Given the description of an element on the screen output the (x, y) to click on. 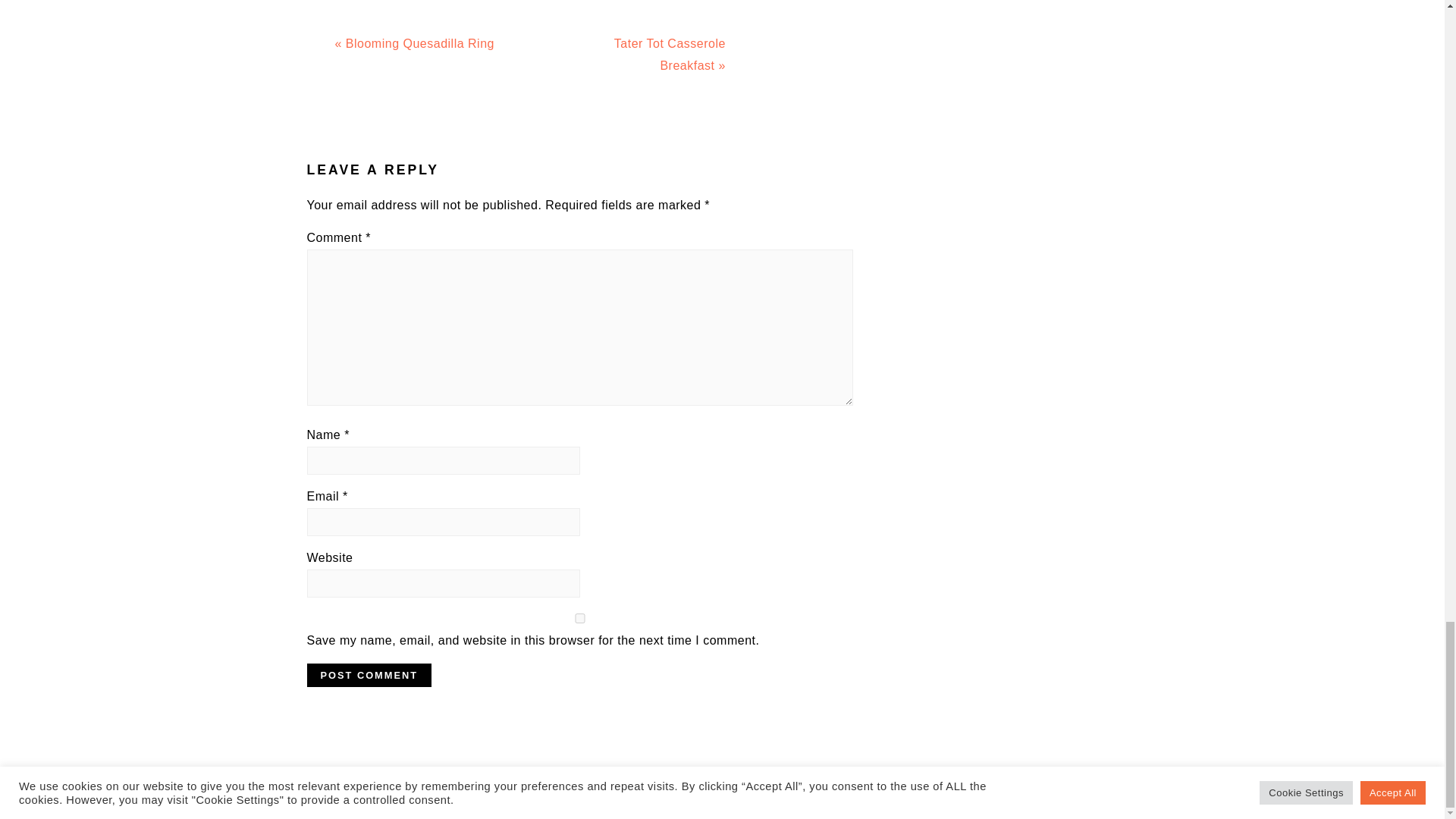
yes (578, 618)
Post Comment (367, 675)
Post Comment (367, 675)
